Given the description of an element on the screen output the (x, y) to click on. 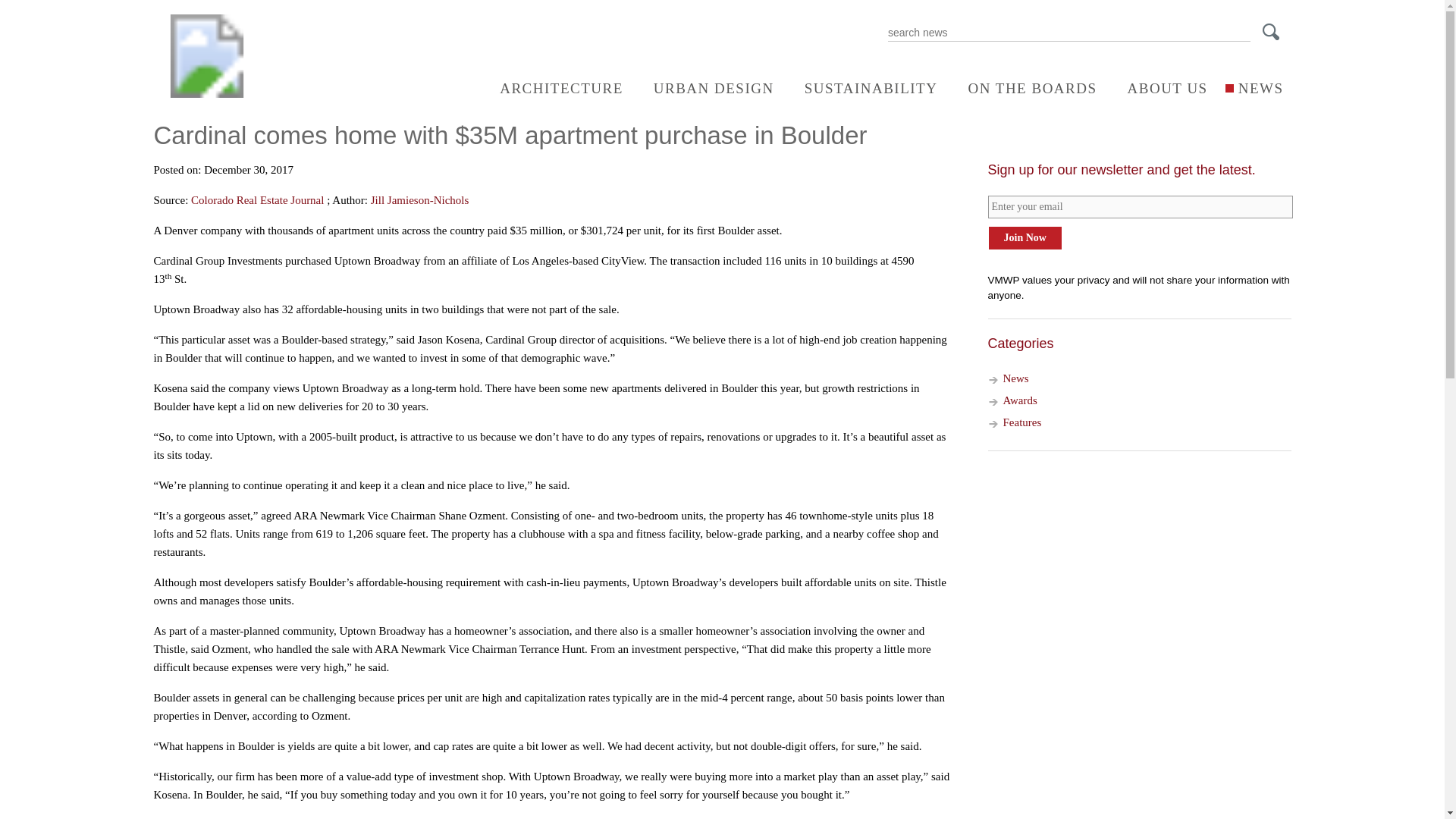
Join Now (1024, 238)
ARCHITECTURE (553, 88)
NEWS (1253, 88)
Features (1022, 422)
ON THE BOARDS (1024, 88)
SUSTAINABILITY (863, 88)
Awards (1019, 399)
Search (1275, 35)
Van Meter Williams Pollack LLP (205, 92)
Join Now (1024, 238)
URBAN DESIGN (706, 88)
News (1015, 378)
Jill Jamieson-Nichols (419, 200)
Colorado Real Estate Journal (256, 200)
ABOUT US (1160, 88)
